Given the description of an element on the screen output the (x, y) to click on. 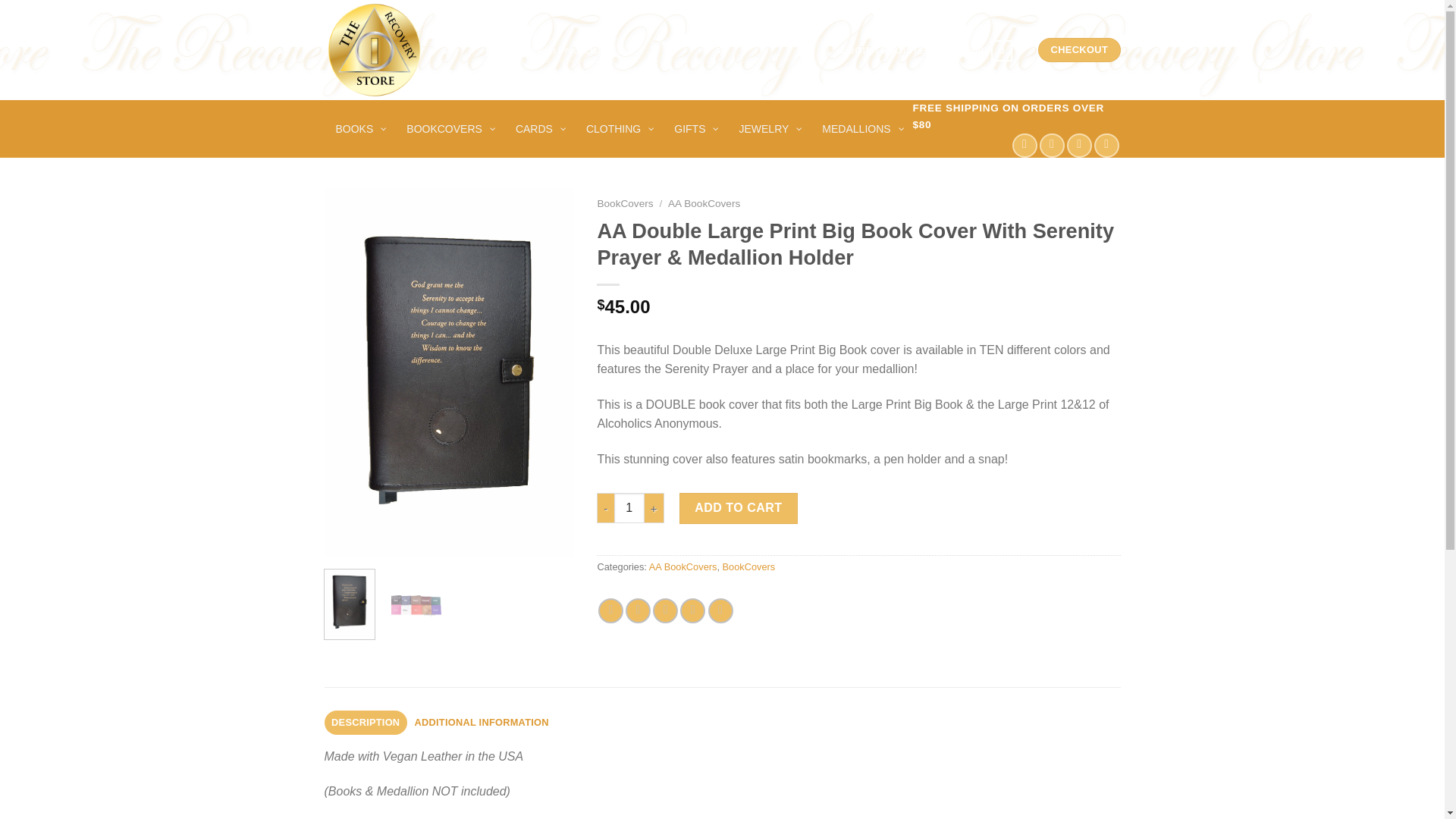
1 (629, 508)
Share on Twitter (638, 610)
Pin on Pinterest (691, 610)
CHECKOUT (1078, 50)
Follow on Facebook (1023, 145)
Email to a Friend (665, 610)
Follow on Instagram (1051, 145)
Share on Facebook (610, 610)
BOOKS (360, 128)
Send us an email (1079, 145)
